Given the description of an element on the screen output the (x, y) to click on. 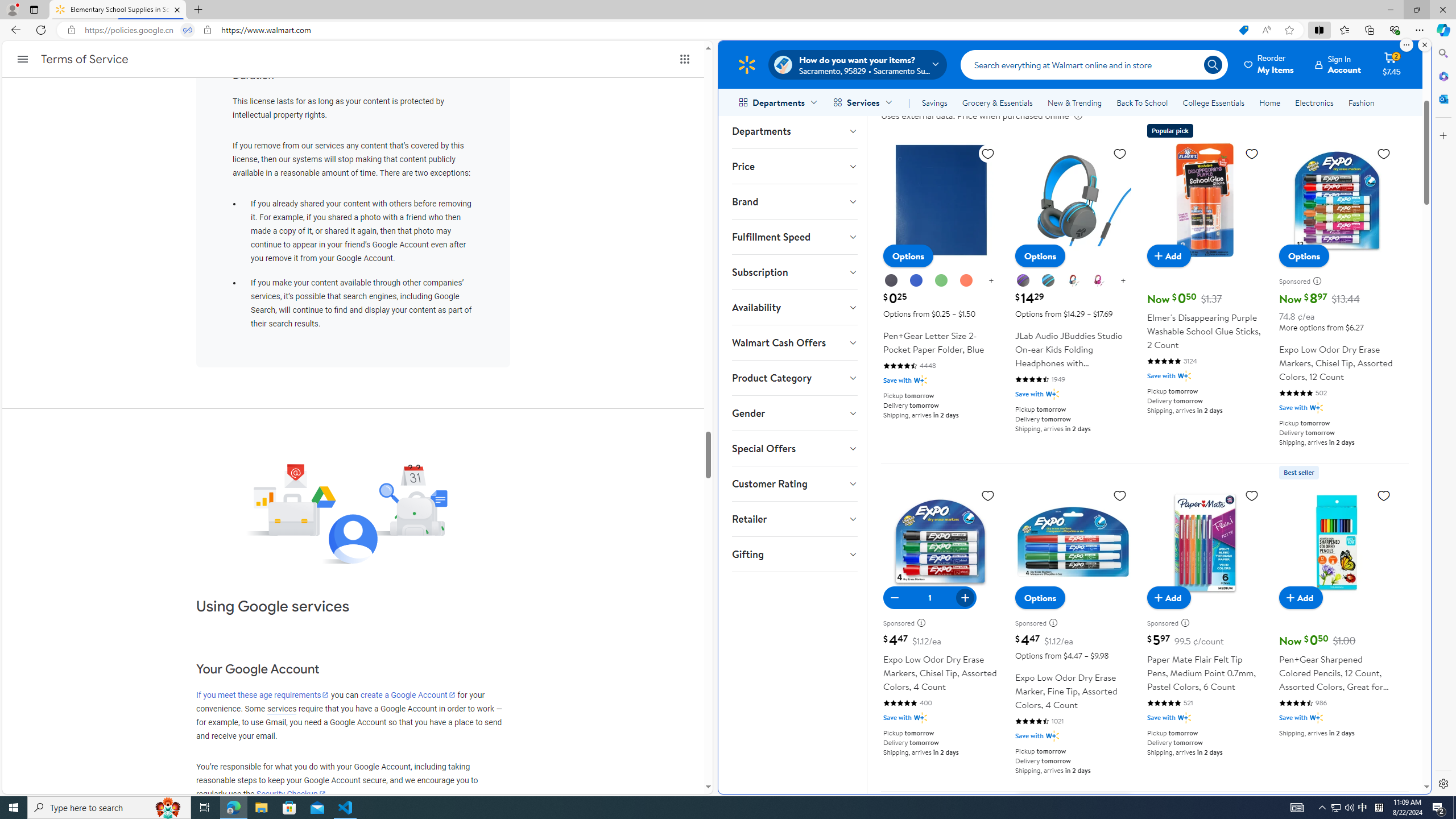
Savings (933, 102)
Back To School (1141, 102)
Product Category (794, 377)
Graphite Purple (1022, 280)
Retailer (794, 518)
Black (891, 280)
New & Trending (1075, 102)
Black (890, 280)
Back To School (1141, 102)
Retailer (794, 518)
New Tab (198, 9)
Savings (933, 102)
Copilot (Ctrl+Shift+.) (1442, 29)
